Given the description of an element on the screen output the (x, y) to click on. 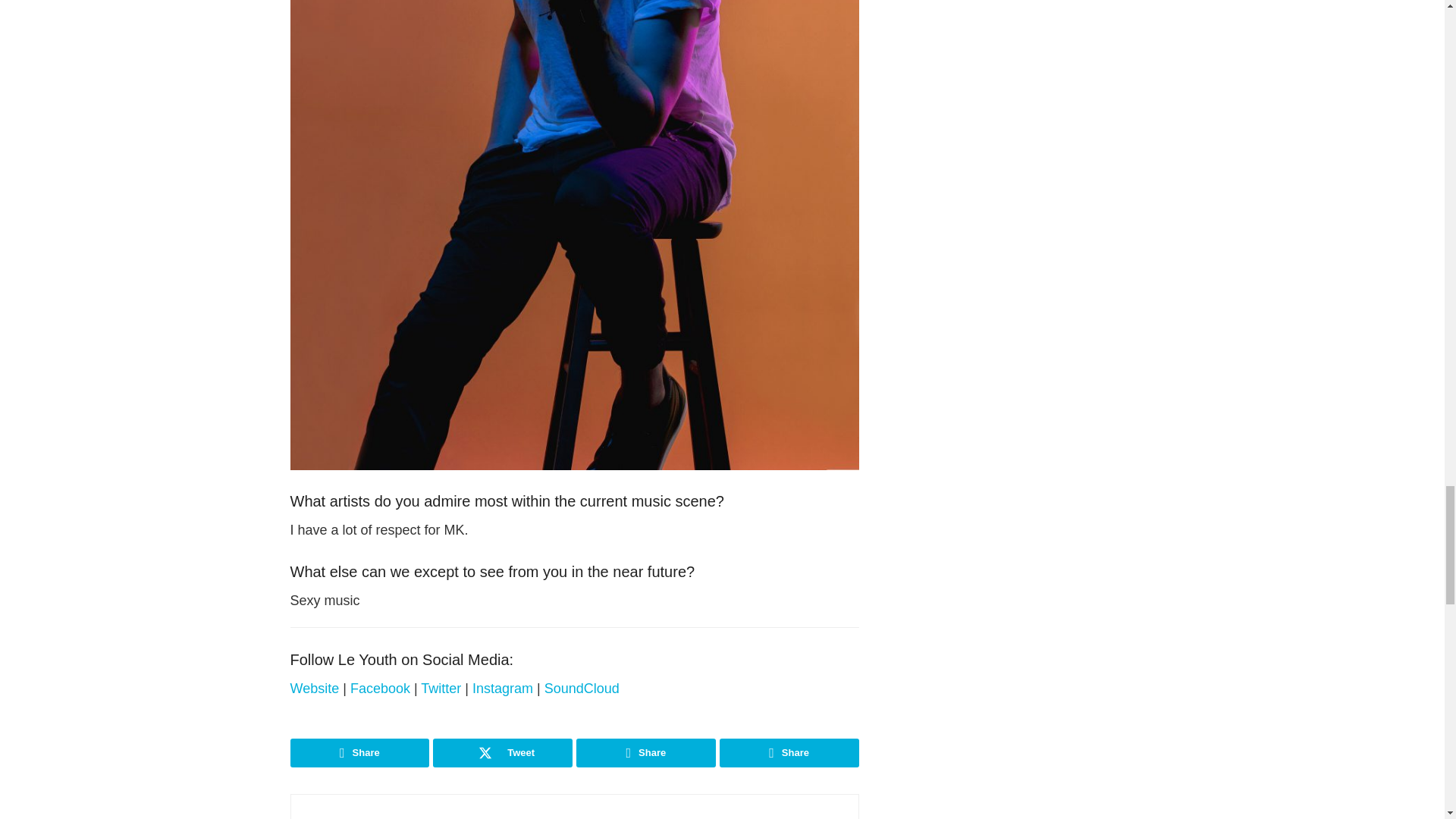
Twitter (442, 688)
Facebook (380, 688)
Share (359, 752)
Website (315, 688)
Instagram (504, 688)
SoundCloud (582, 688)
